Given the description of an element on the screen output the (x, y) to click on. 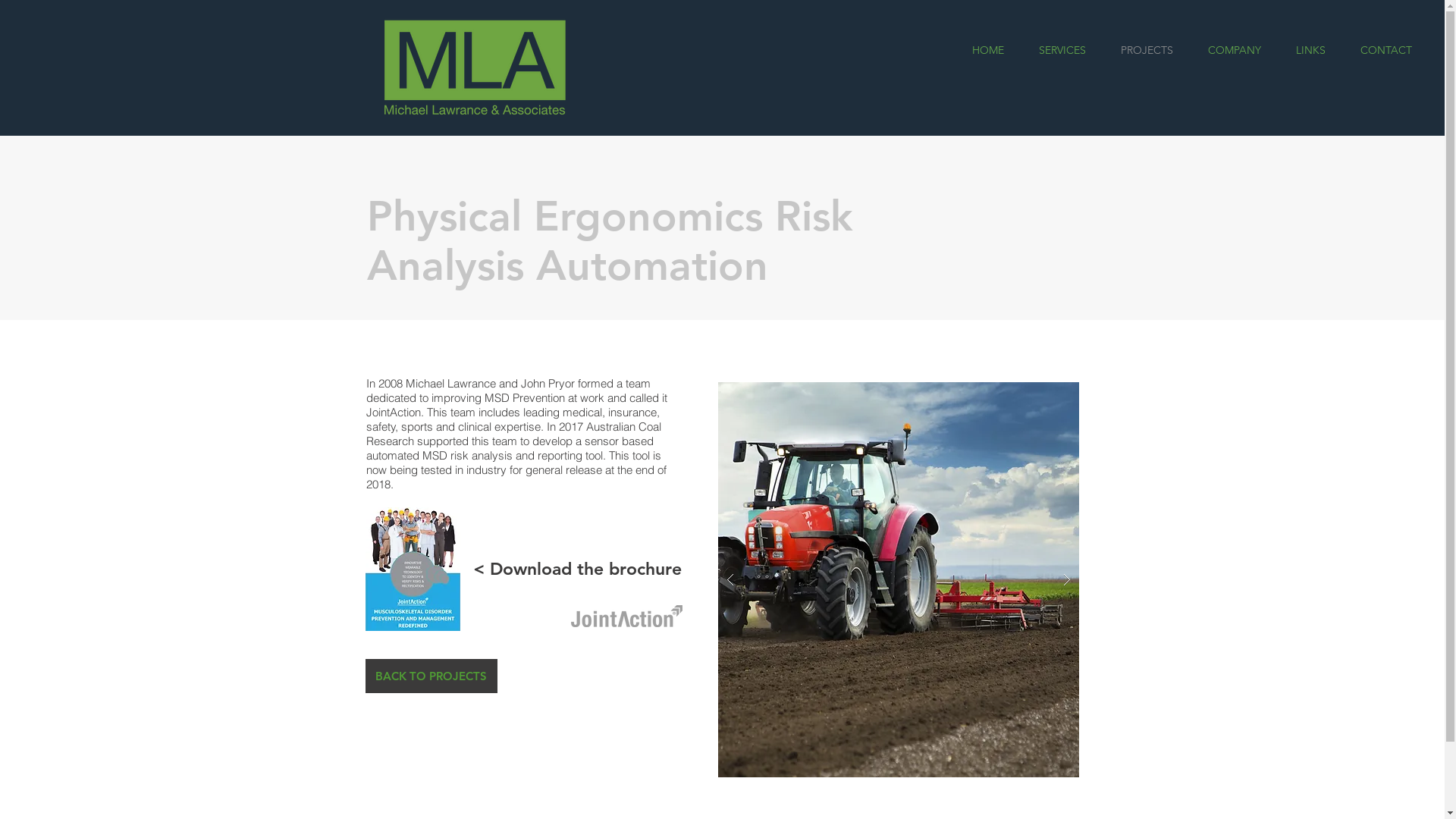
HOME Element type: text (987, 50)
BACK TO PROJECTS Element type: text (431, 675)
LINKS Element type: text (1310, 50)
PROJECTS Element type: text (1146, 50)
CONTACT Element type: text (1386, 50)
SERVICES Element type: text (1062, 50)
COMPANY Element type: text (1234, 50)
